Given the description of an element on the screen output the (x, y) to click on. 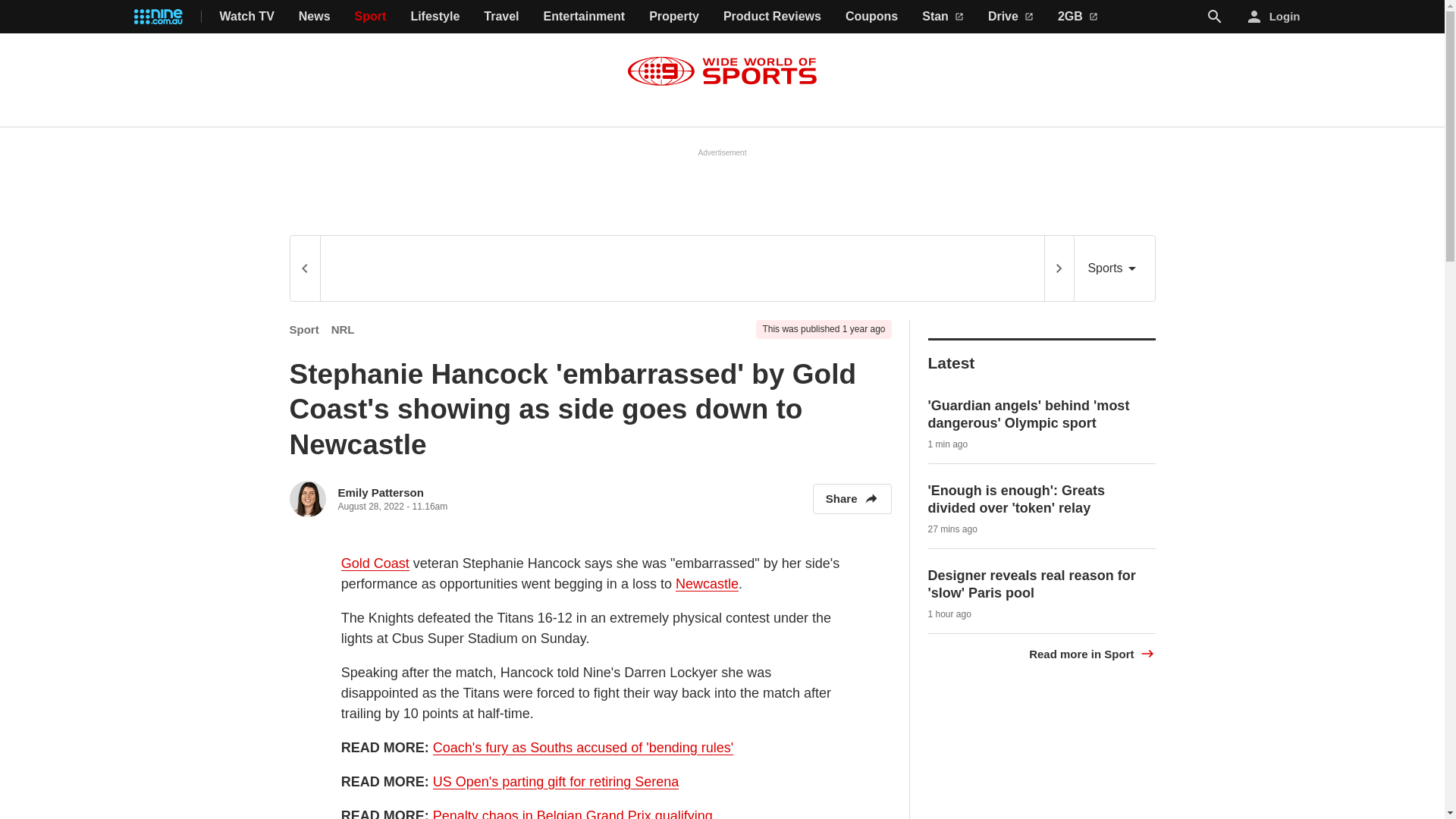
Coach's fury as Souths accused of 'bending rules' (582, 747)
News (314, 16)
Search (1214, 16)
Newcastle (706, 584)
Product Reviews (772, 16)
Watch TV (247, 16)
Stan (942, 16)
Travel (500, 16)
Gold Coast (374, 563)
Emily Patterson (380, 492)
Drive (1010, 16)
Coupons (871, 16)
Property (673, 16)
US Open's parting gift for retiring Serena (555, 781)
Sport (371, 16)
